Given the description of an element on the screen output the (x, y) to click on. 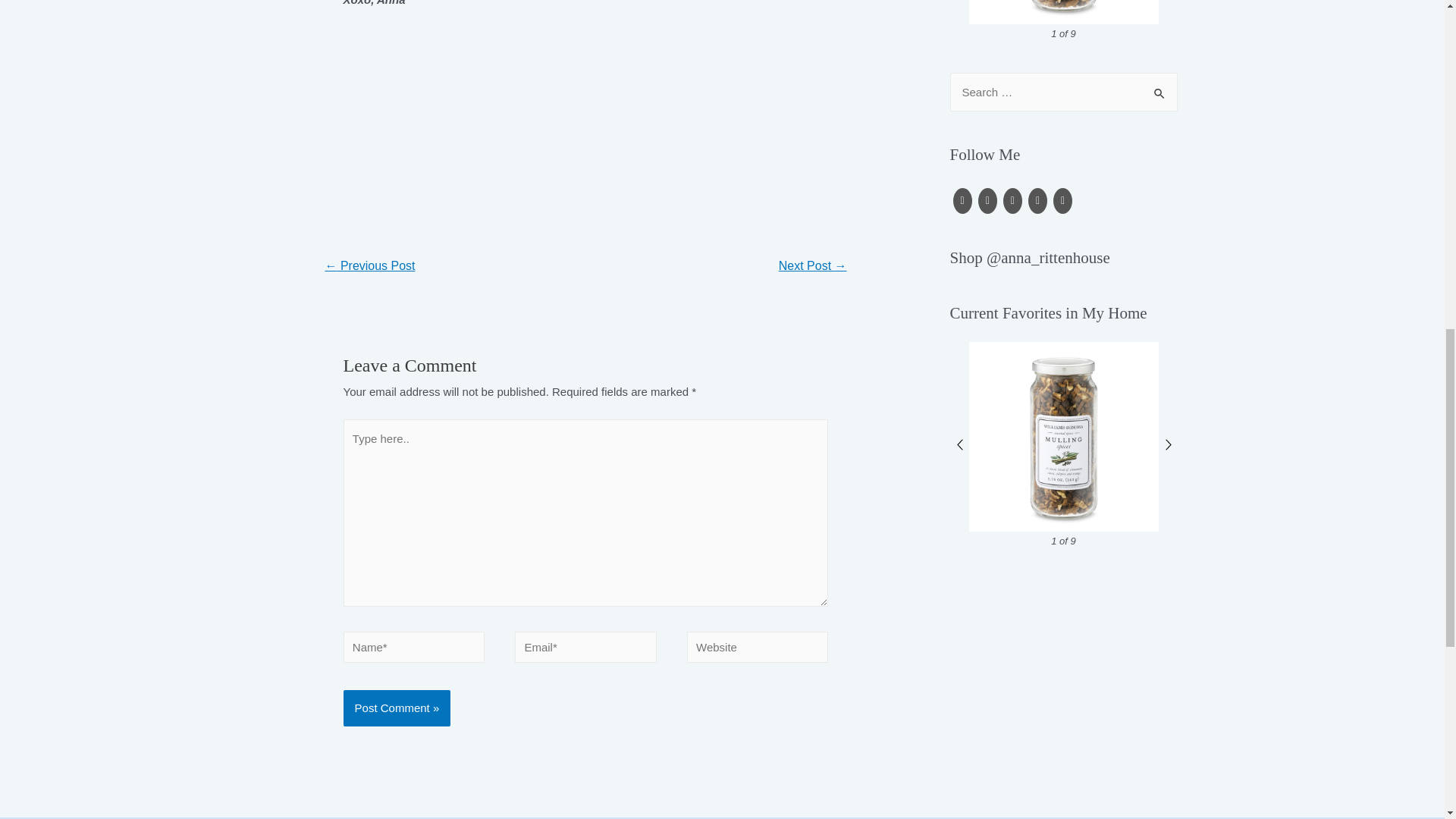
Search (1159, 88)
Search (1159, 88)
